Given the description of an element on the screen output the (x, y) to click on. 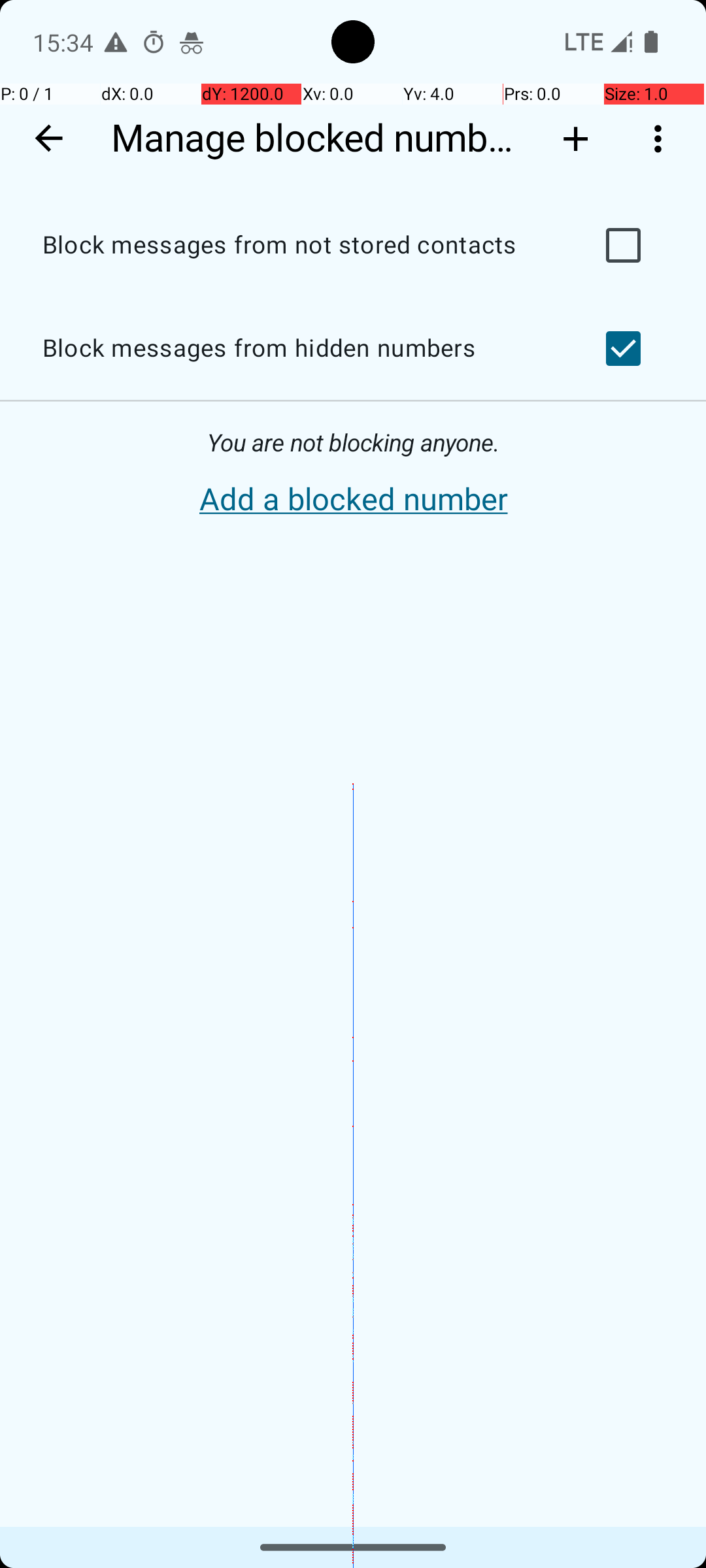
You are not blocking anyone. Element type: android.widget.TextView (352, 443)
Manage blocked numbers Element type: android.widget.TextView (318, 138)
Block messages from not stored contacts Element type: android.widget.TextView (297, 244)
Block messages from hidden numbers Element type: android.widget.TextView (297, 348)
Add a blocked number Element type: android.widget.TextView (352, 499)
